Given the description of an element on the screen output the (x, y) to click on. 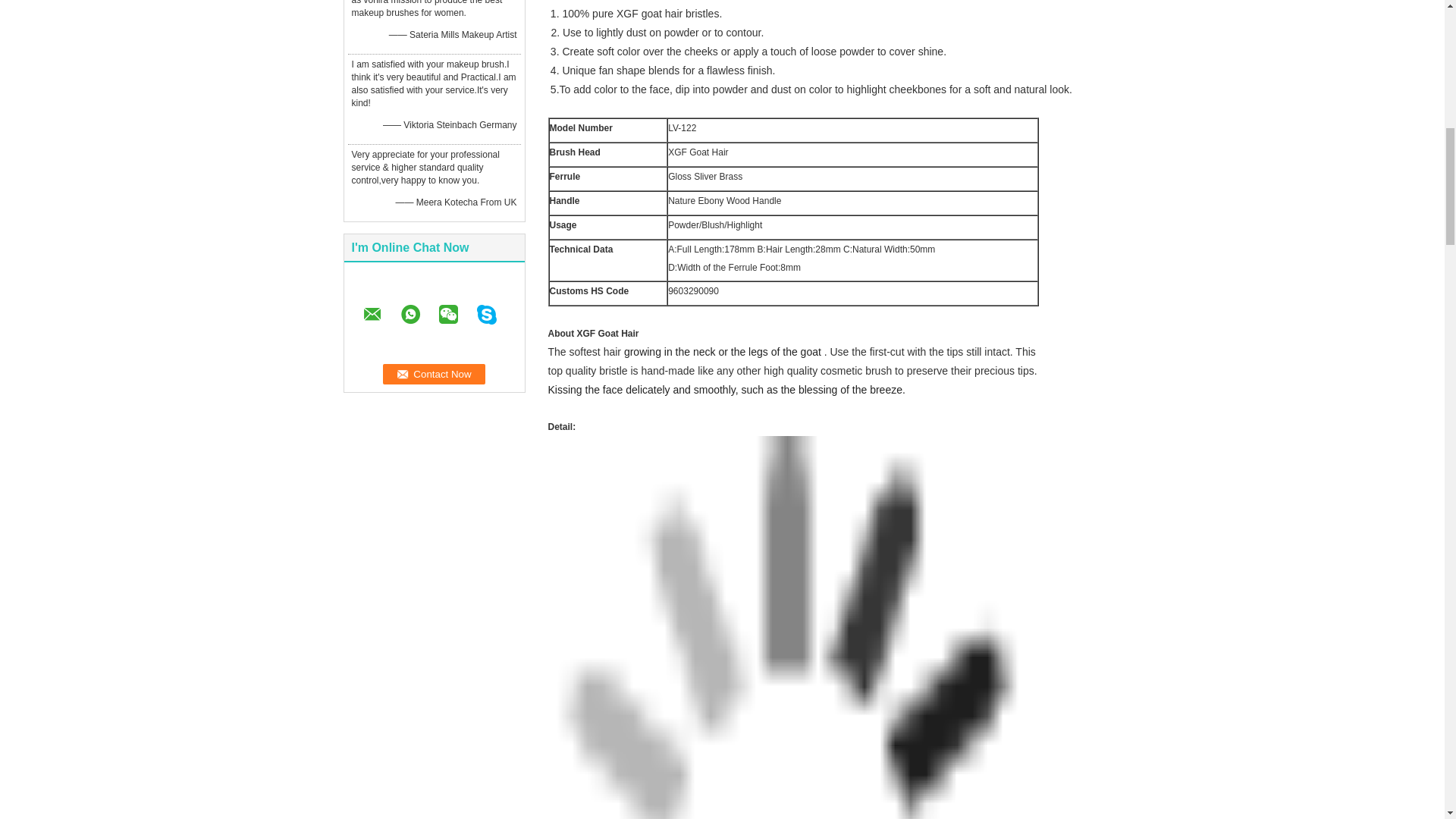
Contact Now (433, 373)
